Given the description of an element on the screen output the (x, y) to click on. 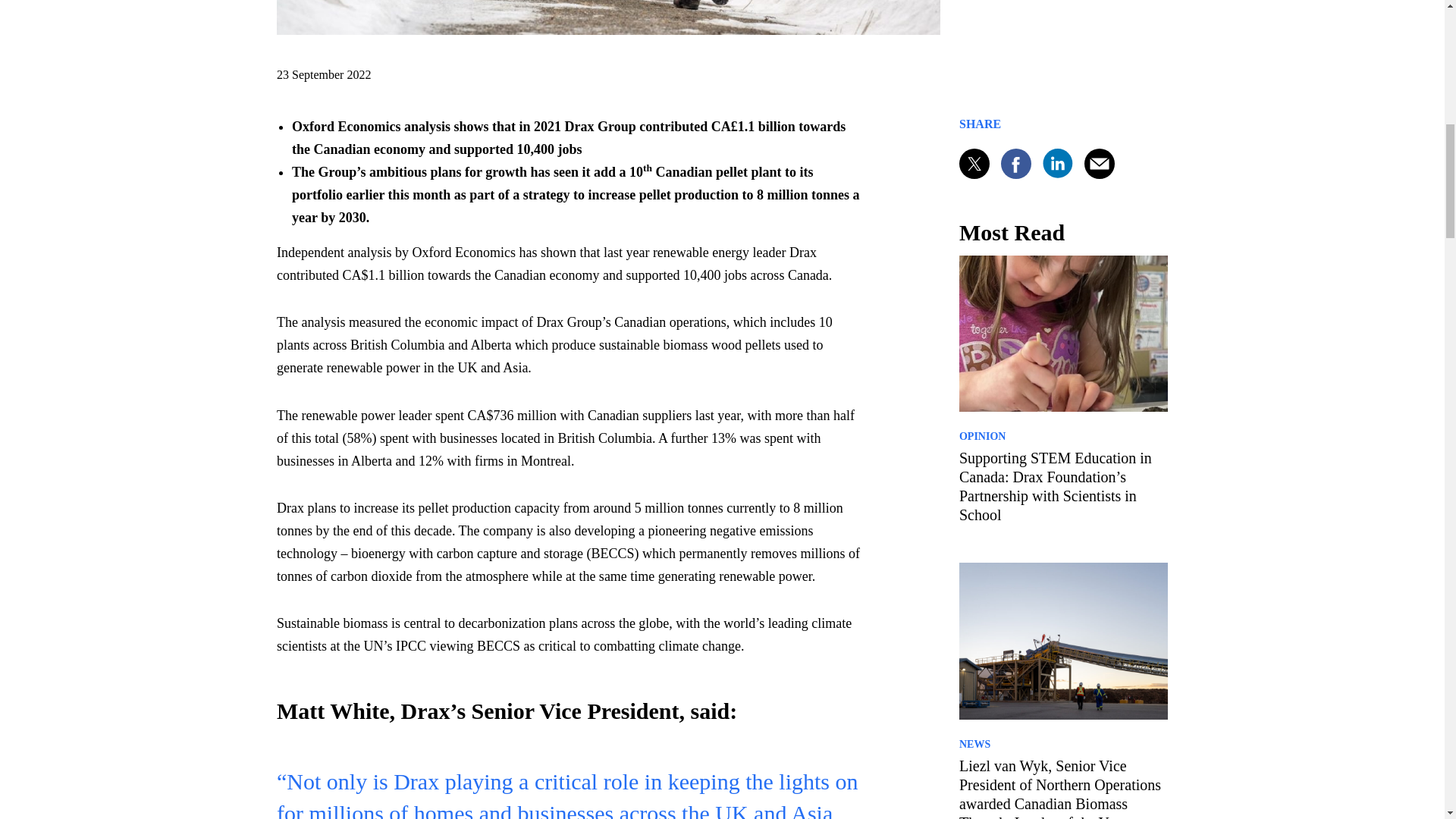
LinkedIn (1057, 163)
X (974, 163)
Facebook (1015, 163)
Email (1099, 163)
